Given the description of an element on the screen output the (x, y) to click on. 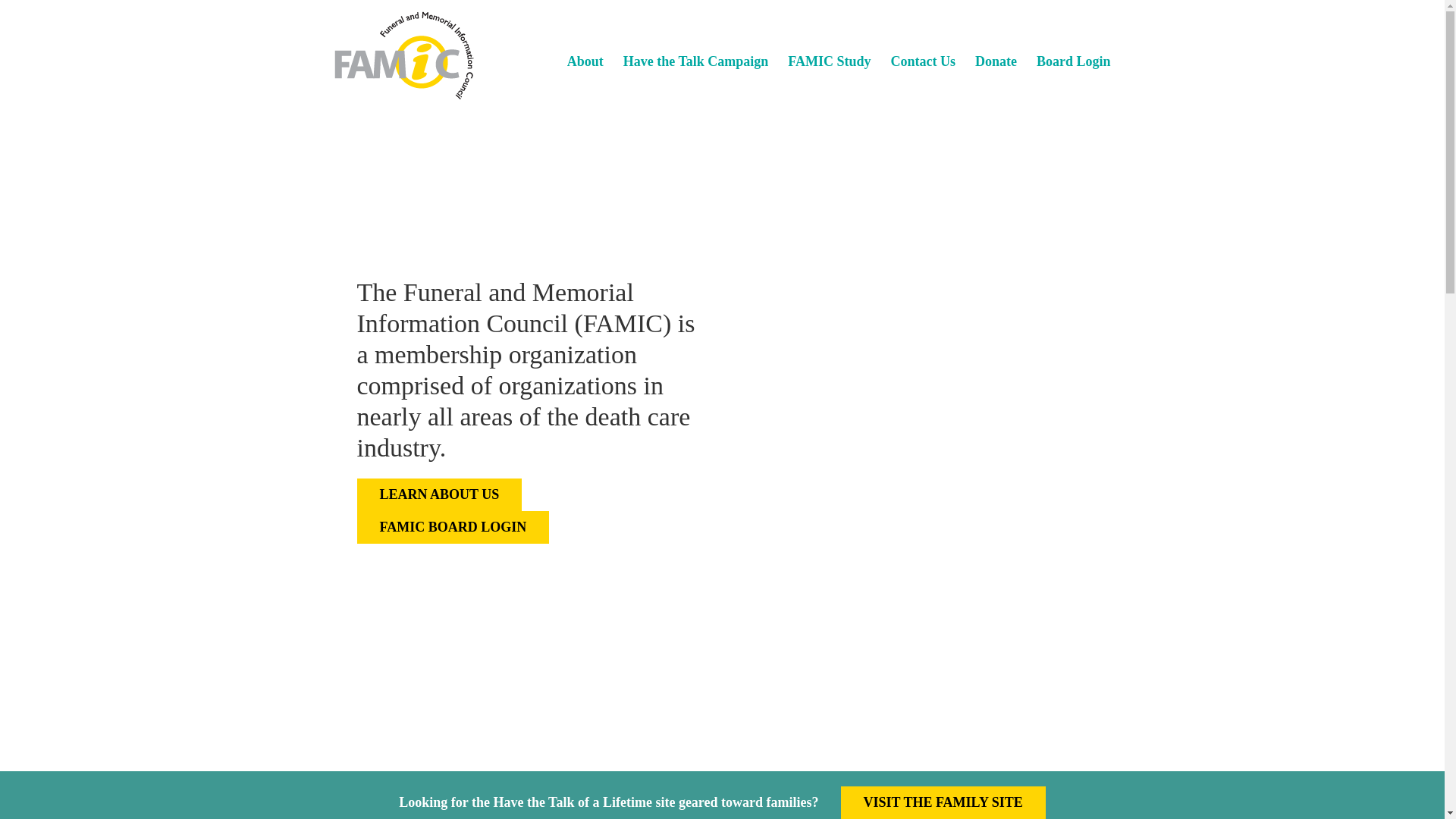
Have the Talk Campaign (695, 59)
VISIT THE FAMILY SITE (943, 802)
FAMIC BOARD LOGIN (452, 527)
About (585, 59)
Donate (995, 59)
LEARN ABOUT US (438, 494)
Board Login (1073, 59)
Contact Us (922, 59)
FAMIC Study (828, 59)
